Given the description of an element on the screen output the (x, y) to click on. 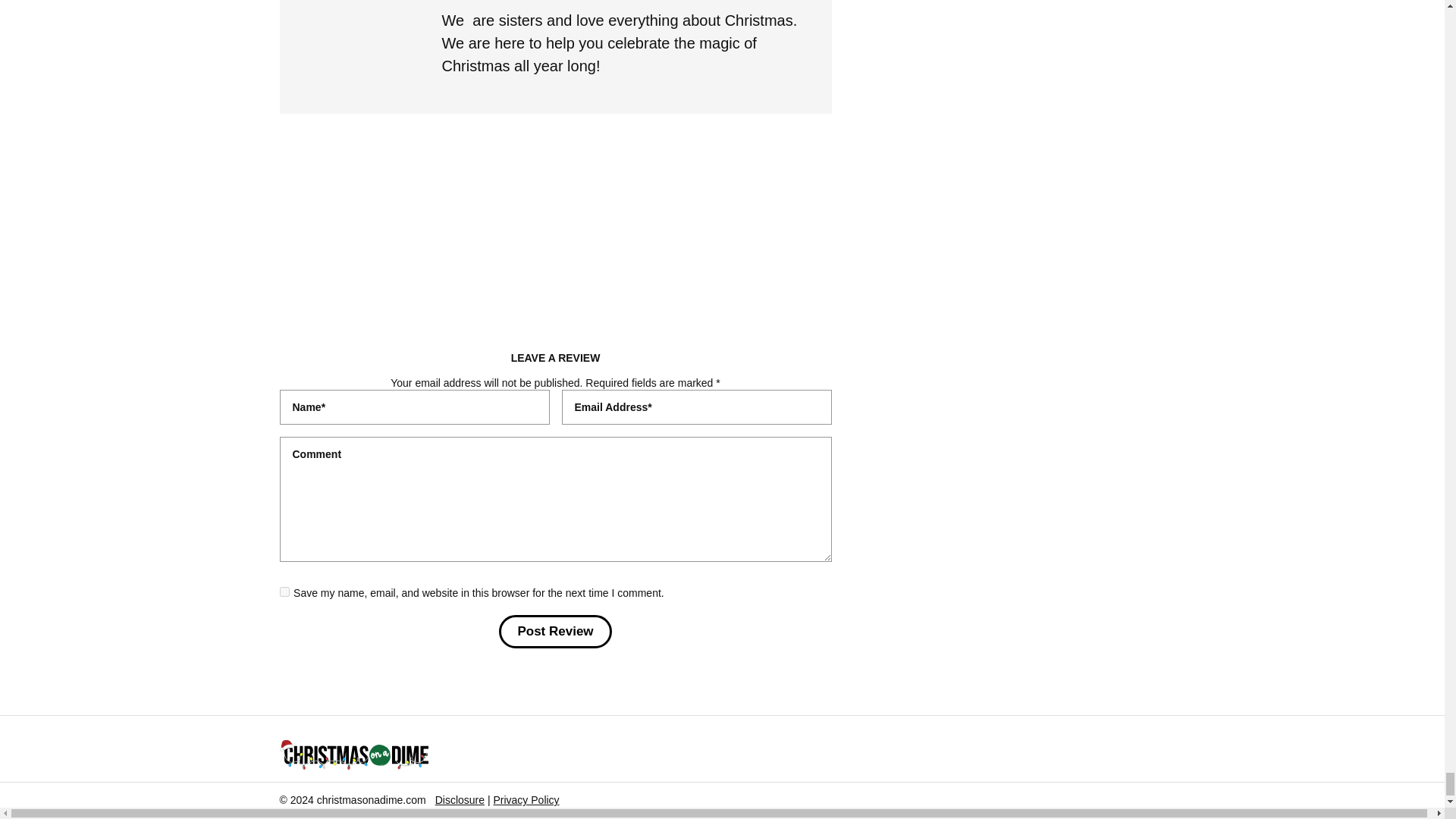
yes (283, 592)
Post Review (555, 631)
